Given the description of an element on the screen output the (x, y) to click on. 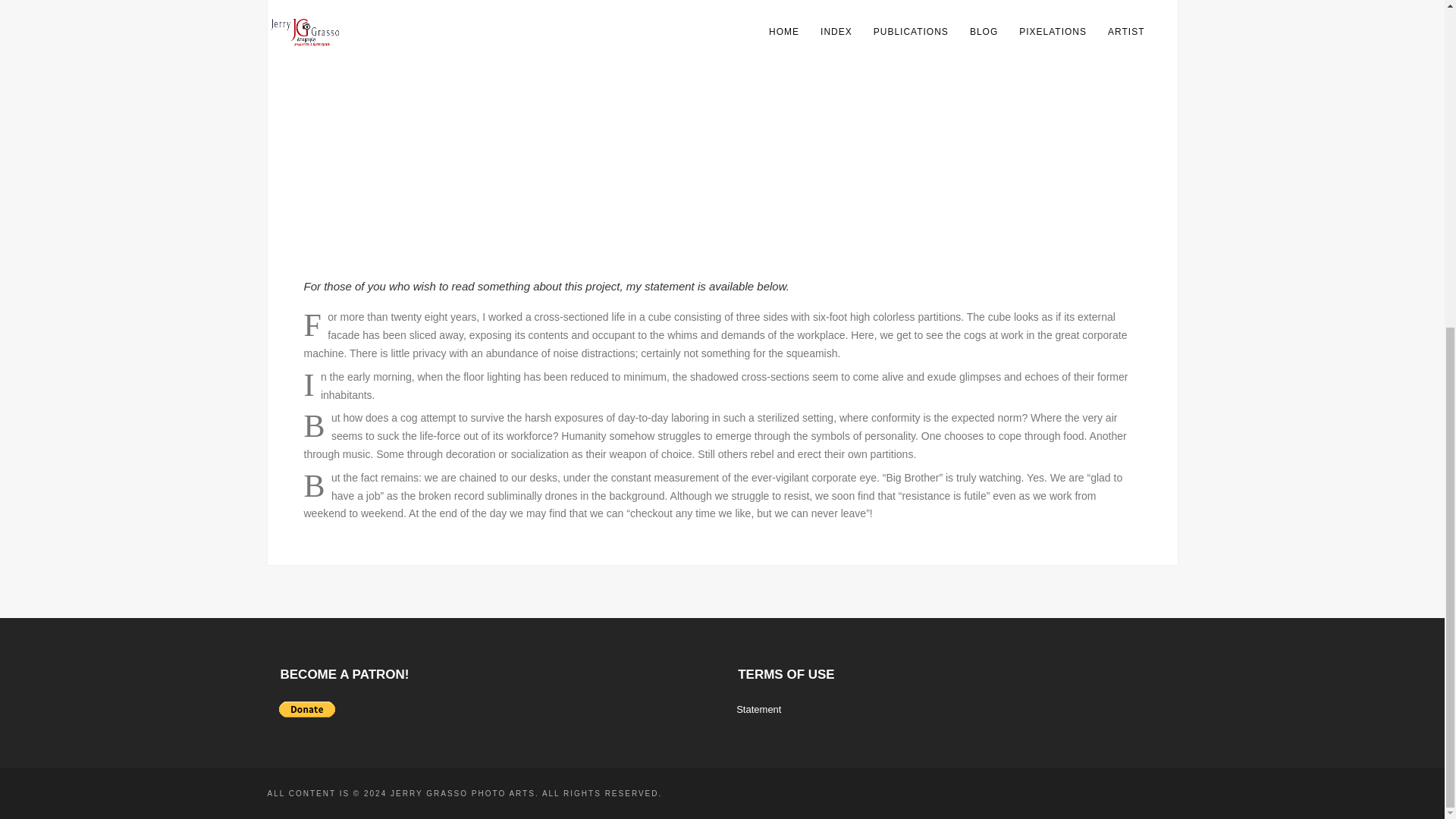
Cross-Sections: The Cogs In The Machine (681, 254)
Statement (758, 708)
